Given the description of an element on the screen output the (x, y) to click on. 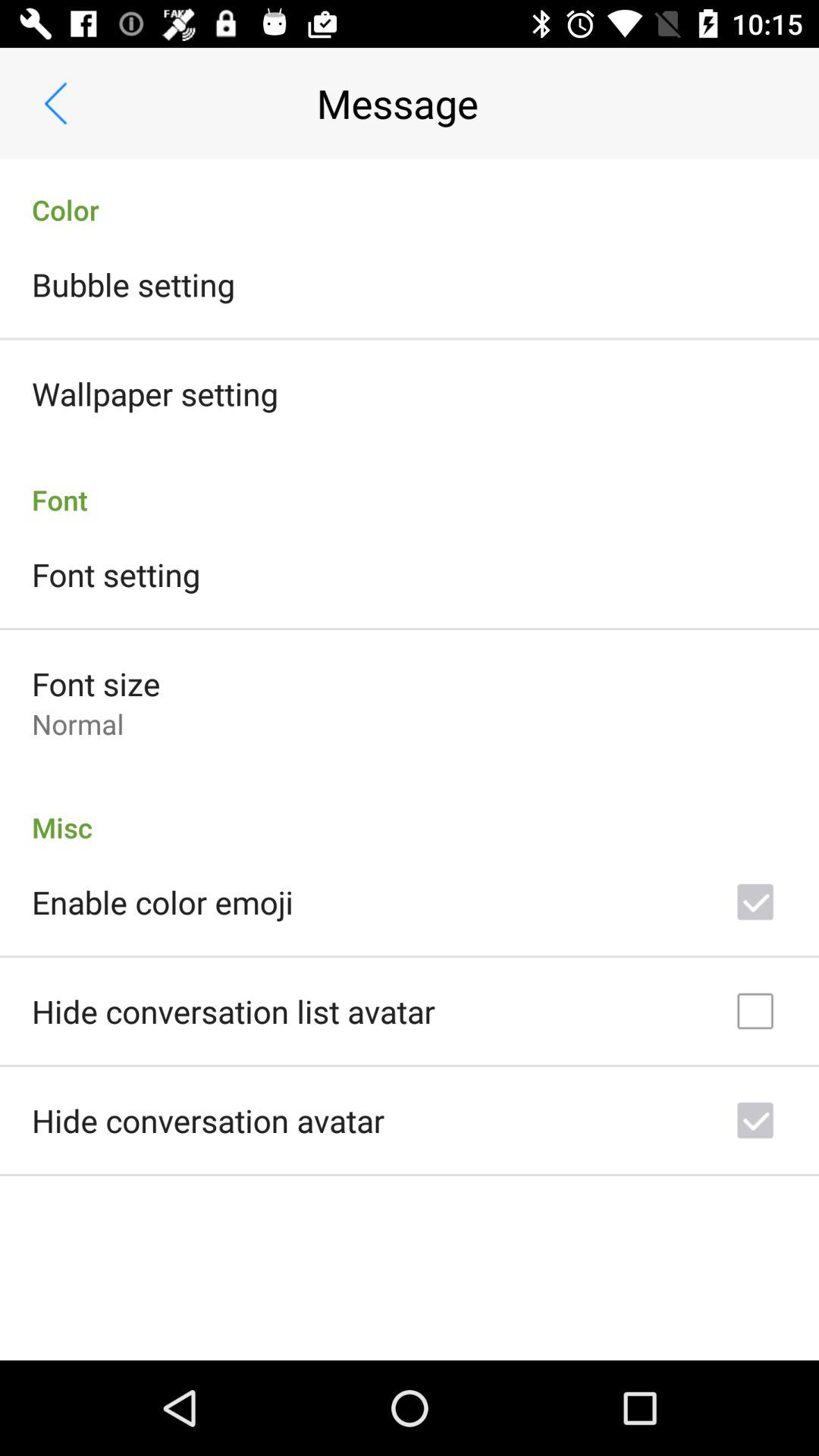
press icon below font setting icon (95, 683)
